Given the description of an element on the screen output the (x, y) to click on. 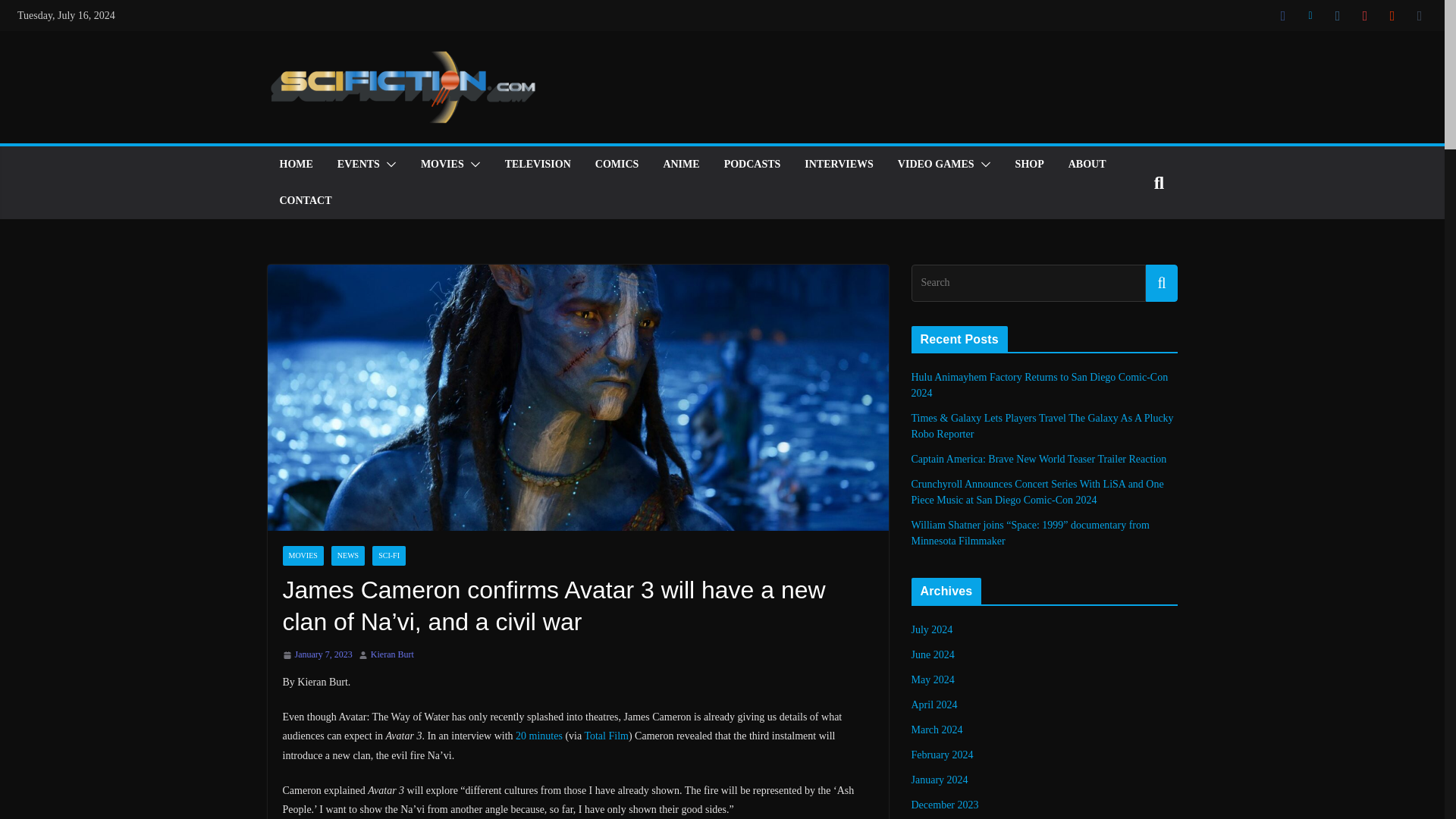
HOME (296, 164)
CONTACT (305, 200)
EVENTS (358, 164)
SHOP (1028, 164)
MOVIES (302, 555)
TELEVISION (537, 164)
NEWS (348, 555)
ANIME (680, 164)
PODCASTS (751, 164)
MOVIES (442, 164)
ABOUT (1087, 164)
SCI-FI (389, 555)
INTERVIEWS (839, 164)
COMICS (617, 164)
Kieran Burt (392, 655)
